Given the description of an element on the screen output the (x, y) to click on. 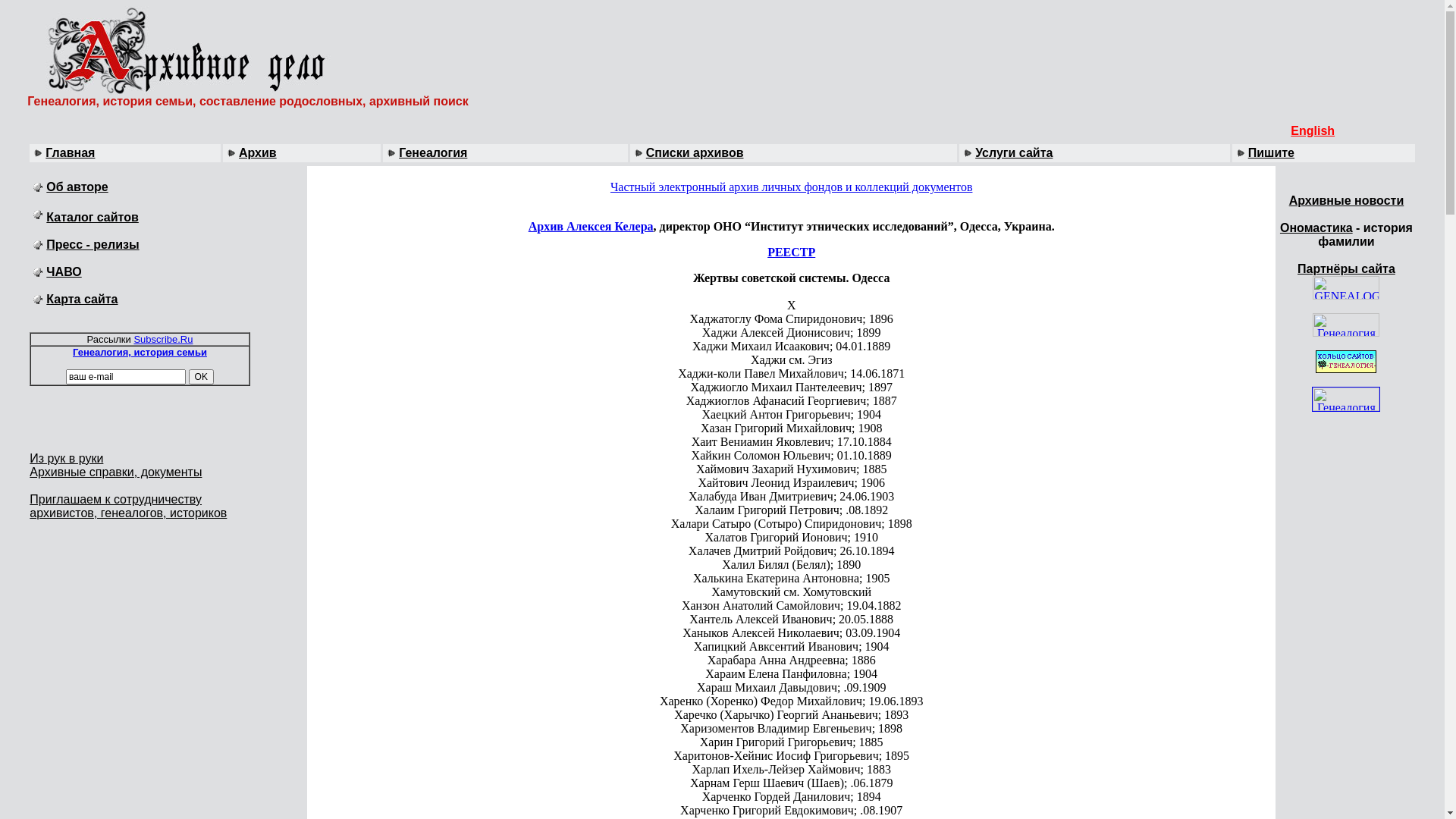
Subscribe.Ru Element type: text (162, 339)
OK Element type: text (200, 376)
English Element type: text (1312, 130)
